Given the description of an element on the screen output the (x, y) to click on. 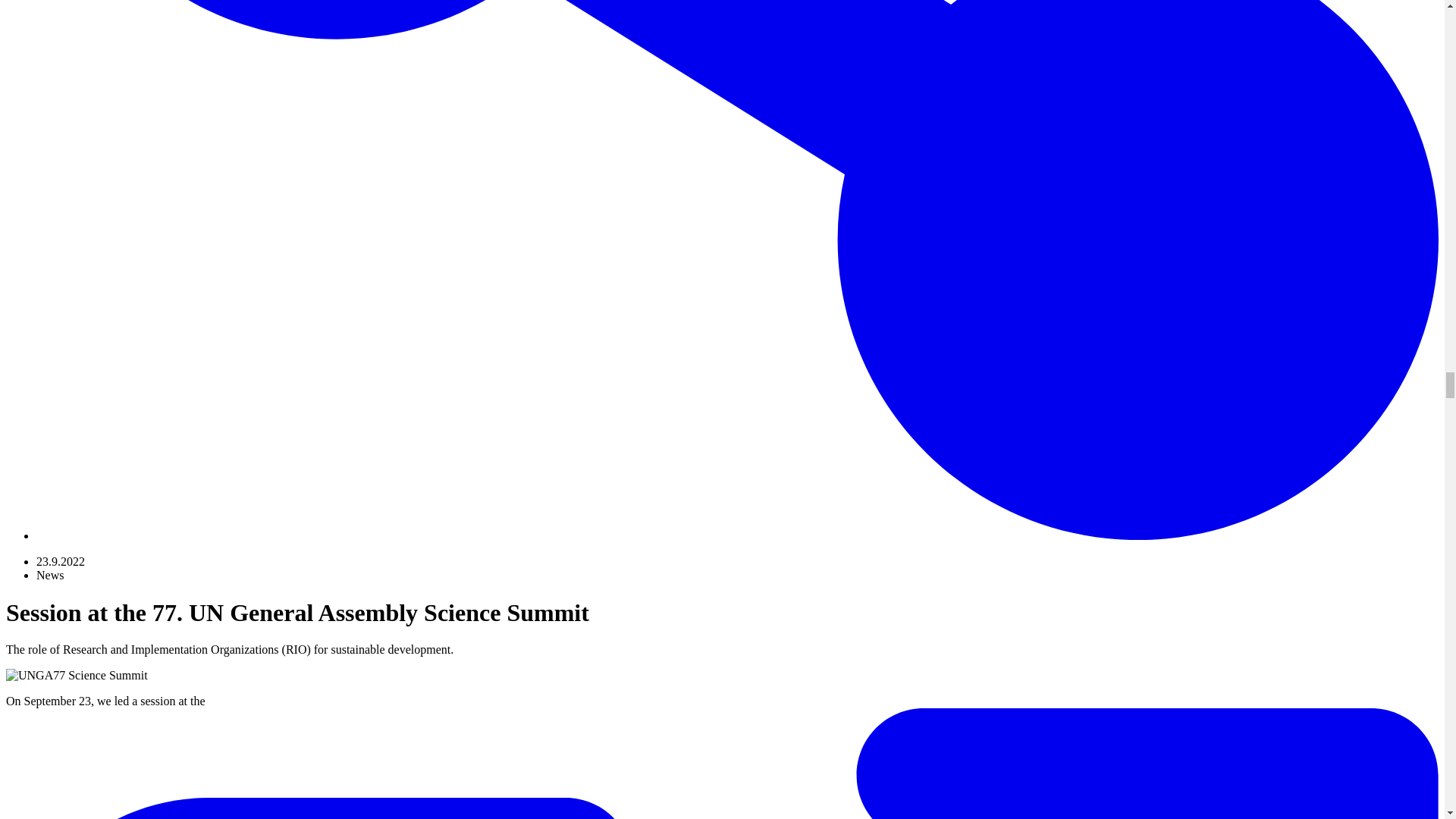
UNGA77 Science Summit (76, 675)
